Given the description of an element on the screen output the (x, y) to click on. 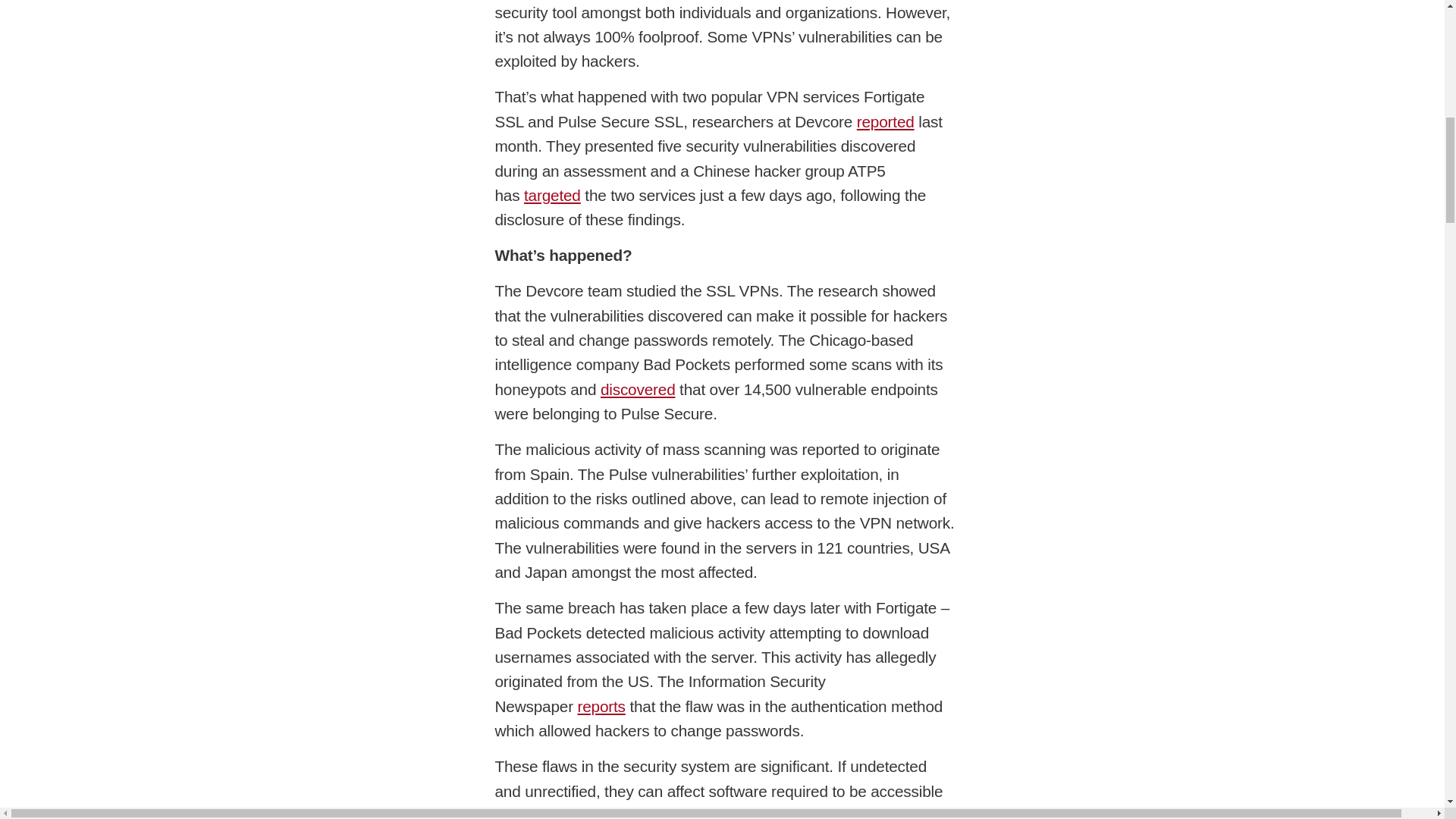
targeted (1249, 54)
discovered (1359, 119)
reported (587, 54)
subscribe to Reclaim The Net. (303, 4)
GitHub (451, 277)
reports (1277, 198)
